Given the description of an element on the screen output the (x, y) to click on. 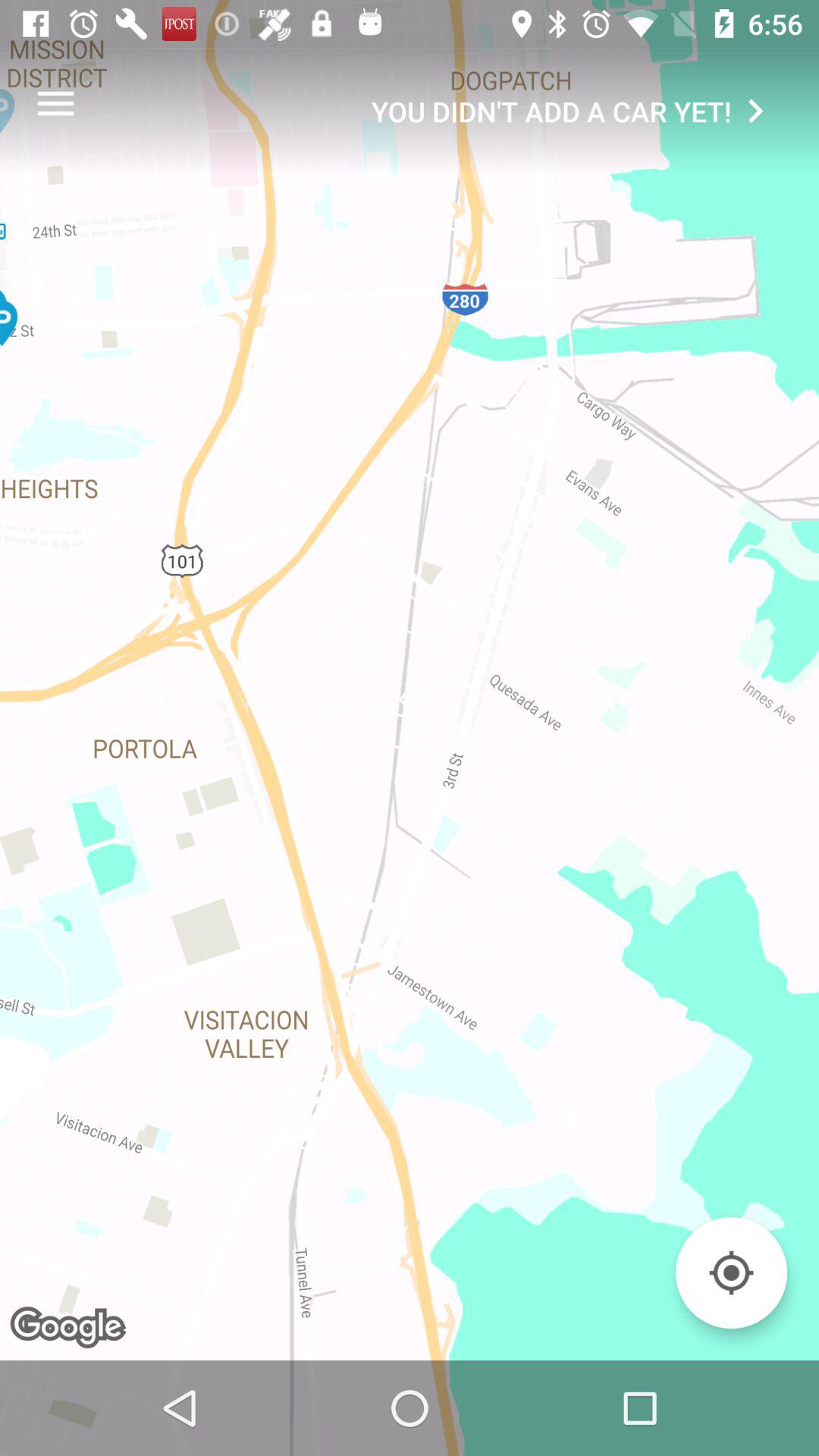
open the item below the you didn t item (731, 1272)
